Given the description of an element on the screen output the (x, y) to click on. 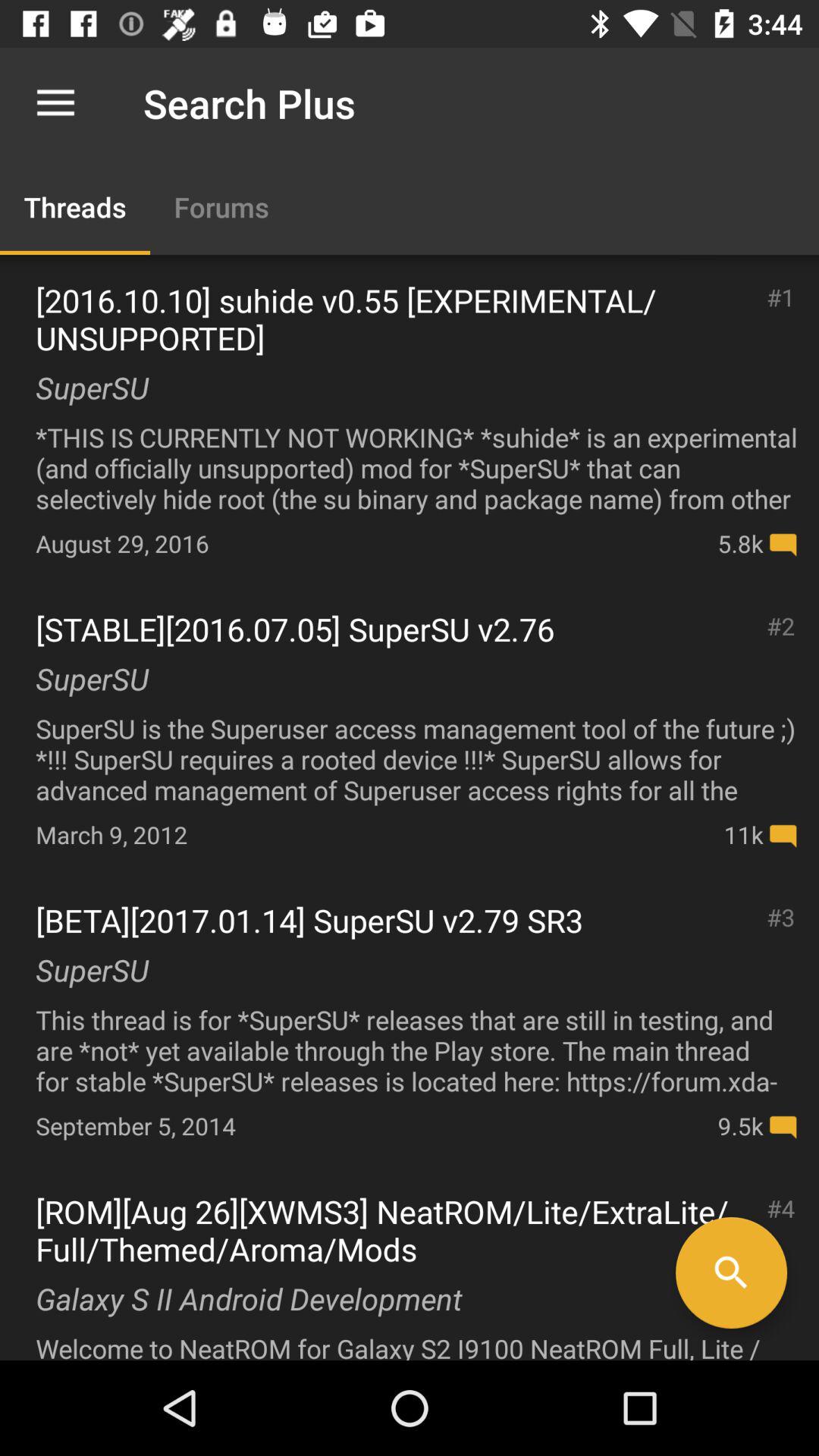
tap app next to search plus icon (55, 103)
